Given the description of an element on the screen output the (x, y) to click on. 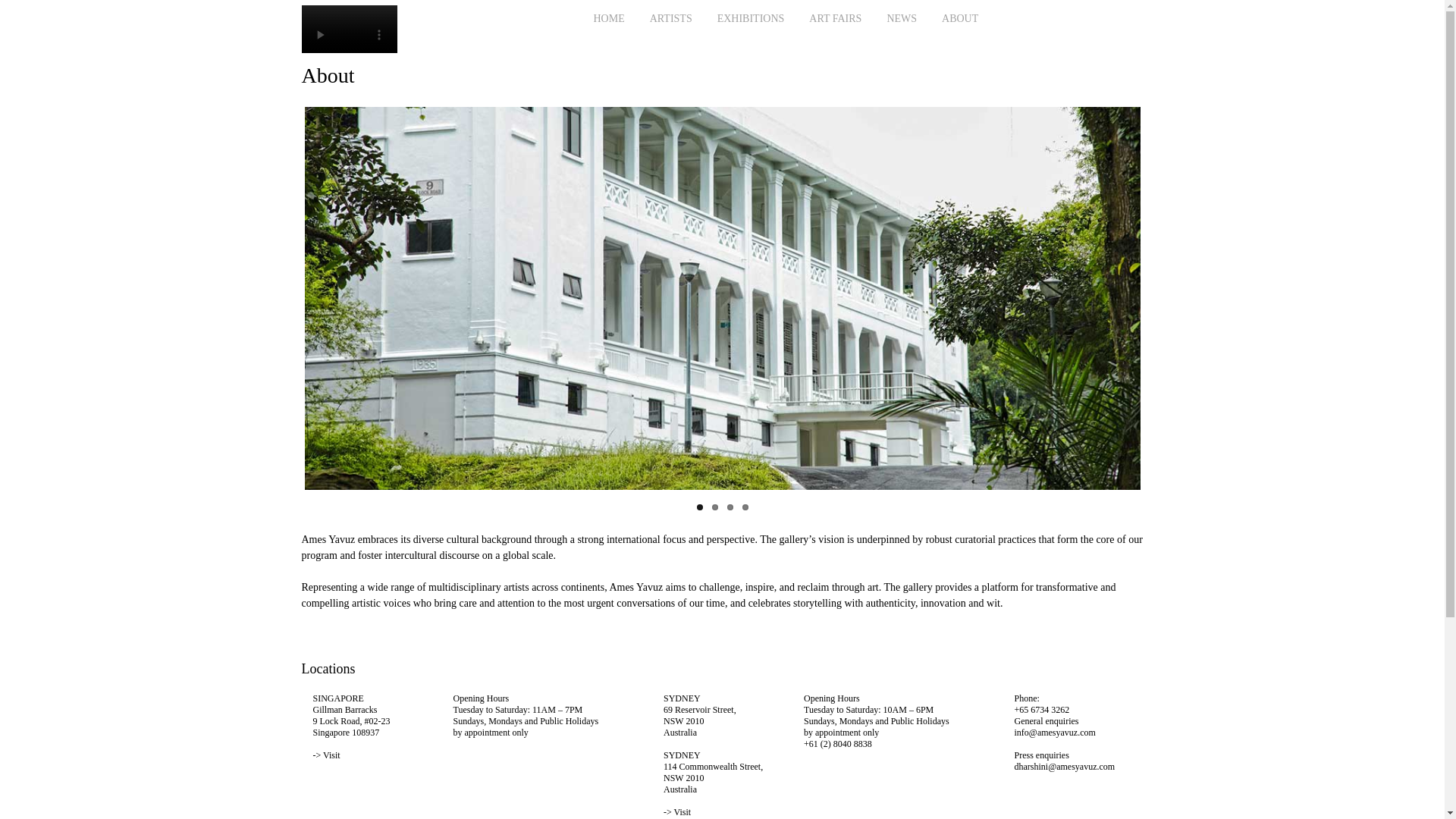
Visit (331, 755)
1 (698, 507)
HOME (607, 18)
ARTISTS (671, 18)
Visit (682, 811)
ART FAIRS (834, 18)
ABOUT (960, 18)
3 (729, 507)
EXHIBITIONS (751, 18)
4 (744, 507)
